Given the description of an element on the screen output the (x, y) to click on. 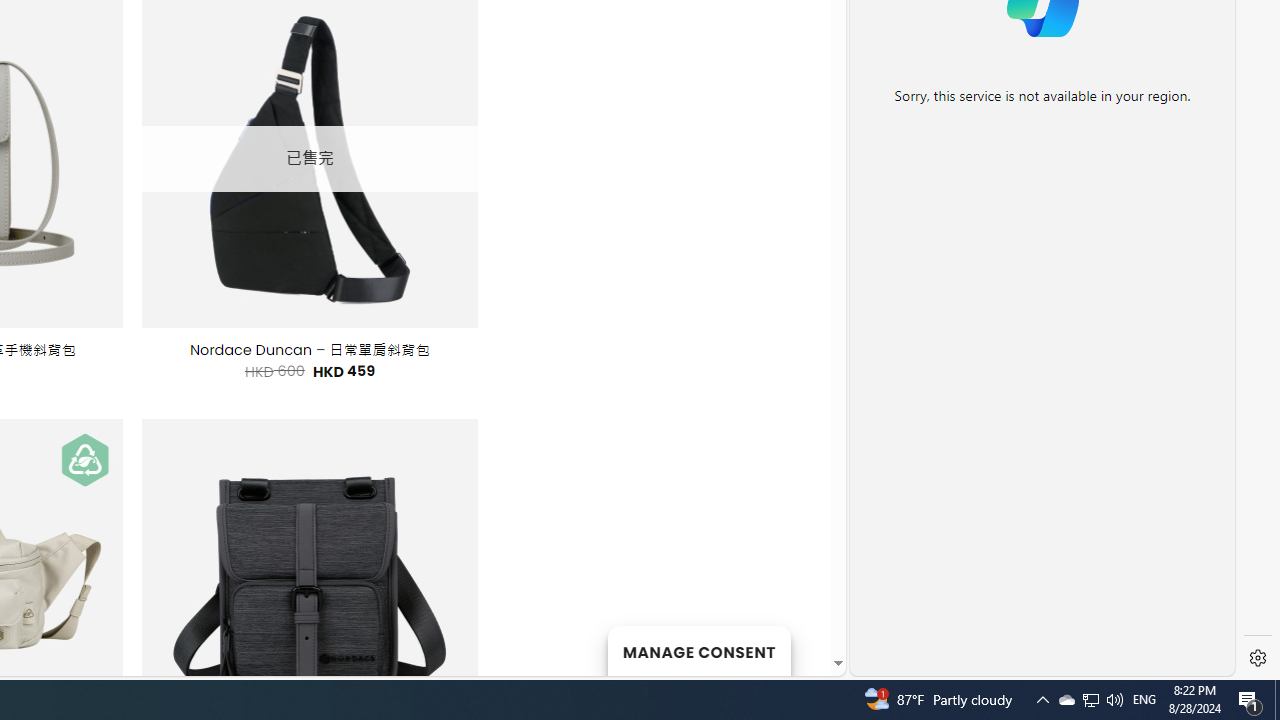
Settings (1258, 658)
MANAGE CONSENT (698, 650)
